Given the description of an element on the screen output the (x, y) to click on. 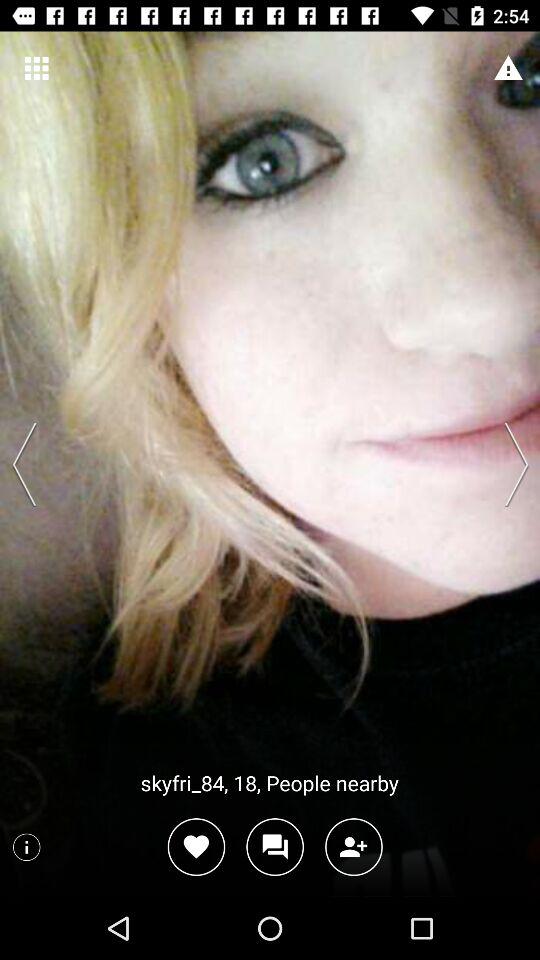
select to send message (274, 846)
